Given the description of an element on the screen output the (x, y) to click on. 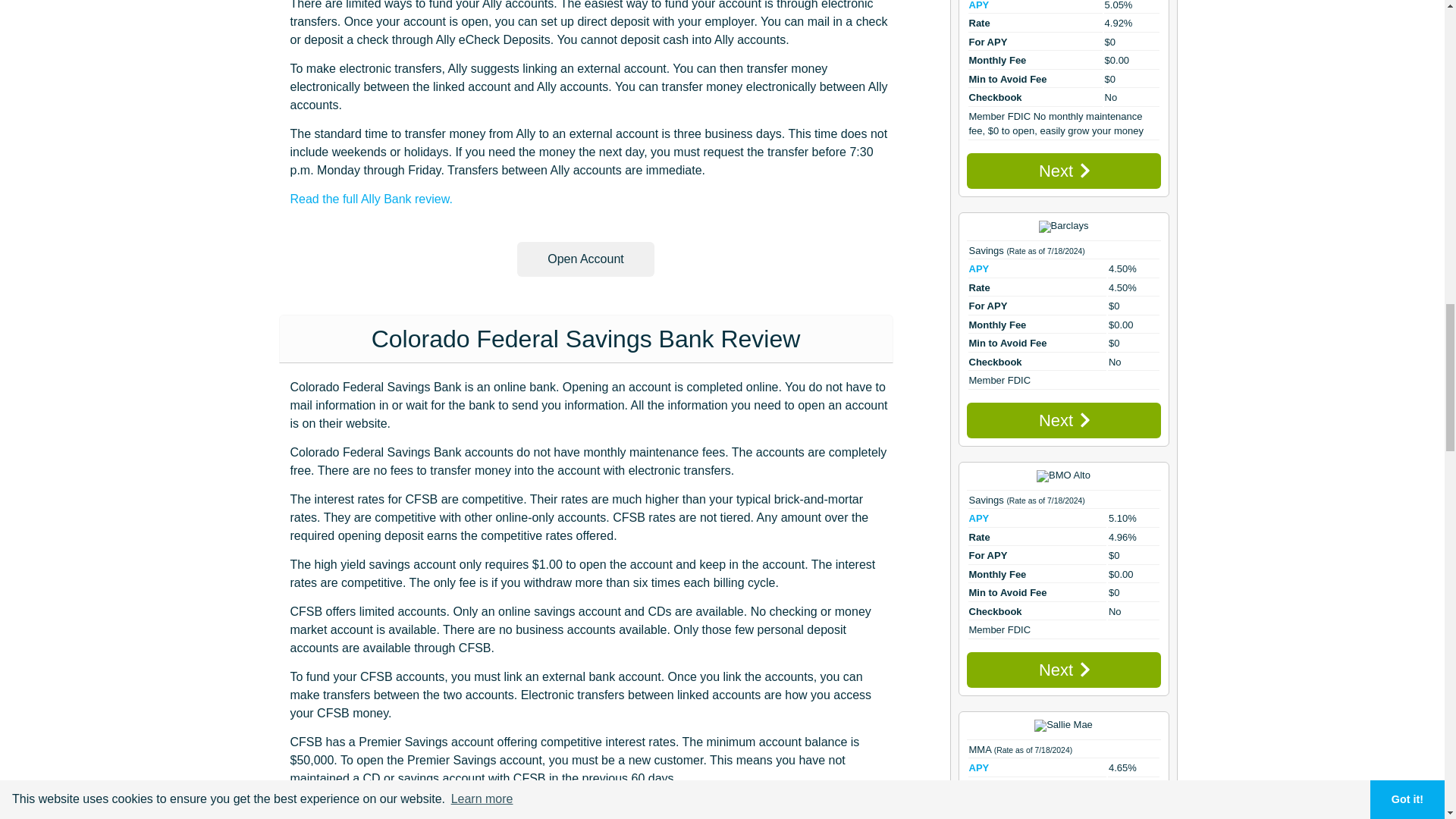
Next (1063, 171)
Next (1063, 669)
Sallie Mae (1063, 725)
Next (1063, 420)
Open Account (584, 258)
BMO Alto (1063, 476)
Read the full Ally Bank review. (370, 198)
Barclays (1064, 226)
